Given the description of an element on the screen output the (x, y) to click on. 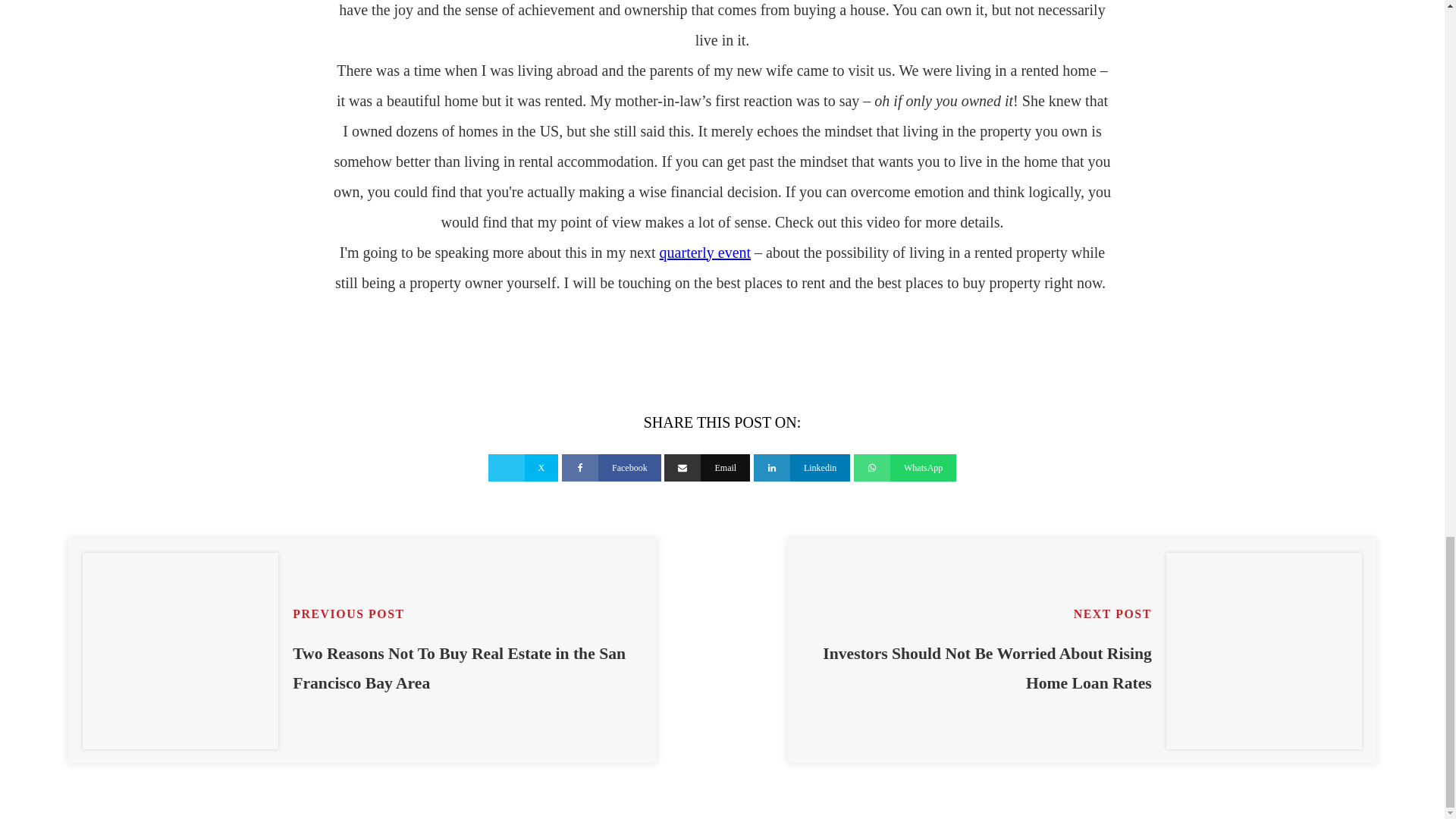
X (523, 467)
Facebook (611, 467)
quarterly event (705, 252)
WhatsApp (904, 467)
Linkedin (802, 467)
Email (706, 467)
